Given the description of an element on the screen output the (x, y) to click on. 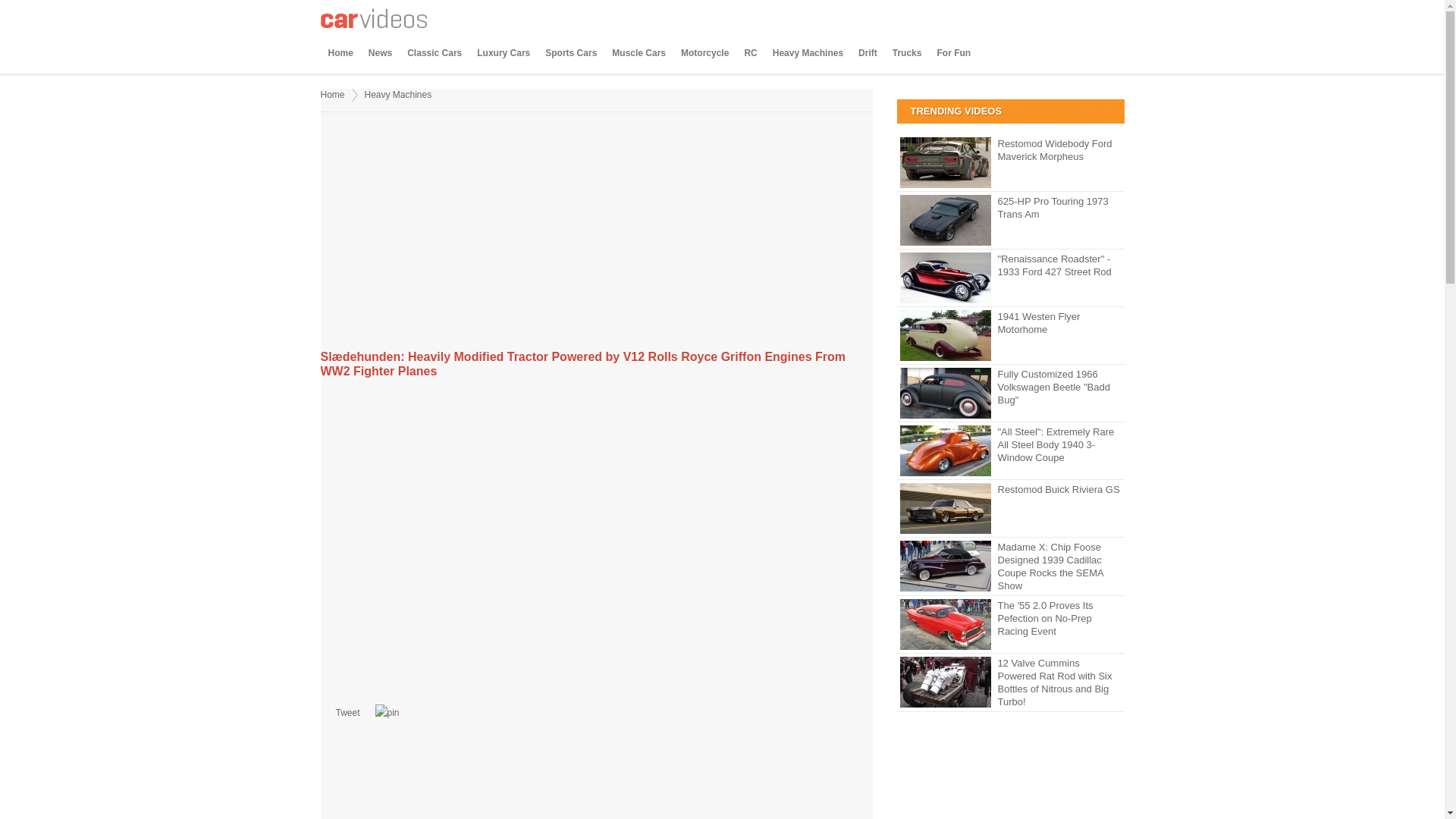
News (379, 53)
Sports Cars (570, 53)
Advertisement (596, 232)
Tweet (347, 712)
Motorcycle (704, 53)
Heavy Machines (398, 94)
Luxury Cars (502, 53)
The '55 2.0 Proves Its Pefection on No-Prep Racing Event (1010, 618)
Trucks (907, 53)
Classic Cars (433, 53)
Drift (867, 53)
Advertisement (447, 778)
